Given the description of an element on the screen output the (x, y) to click on. 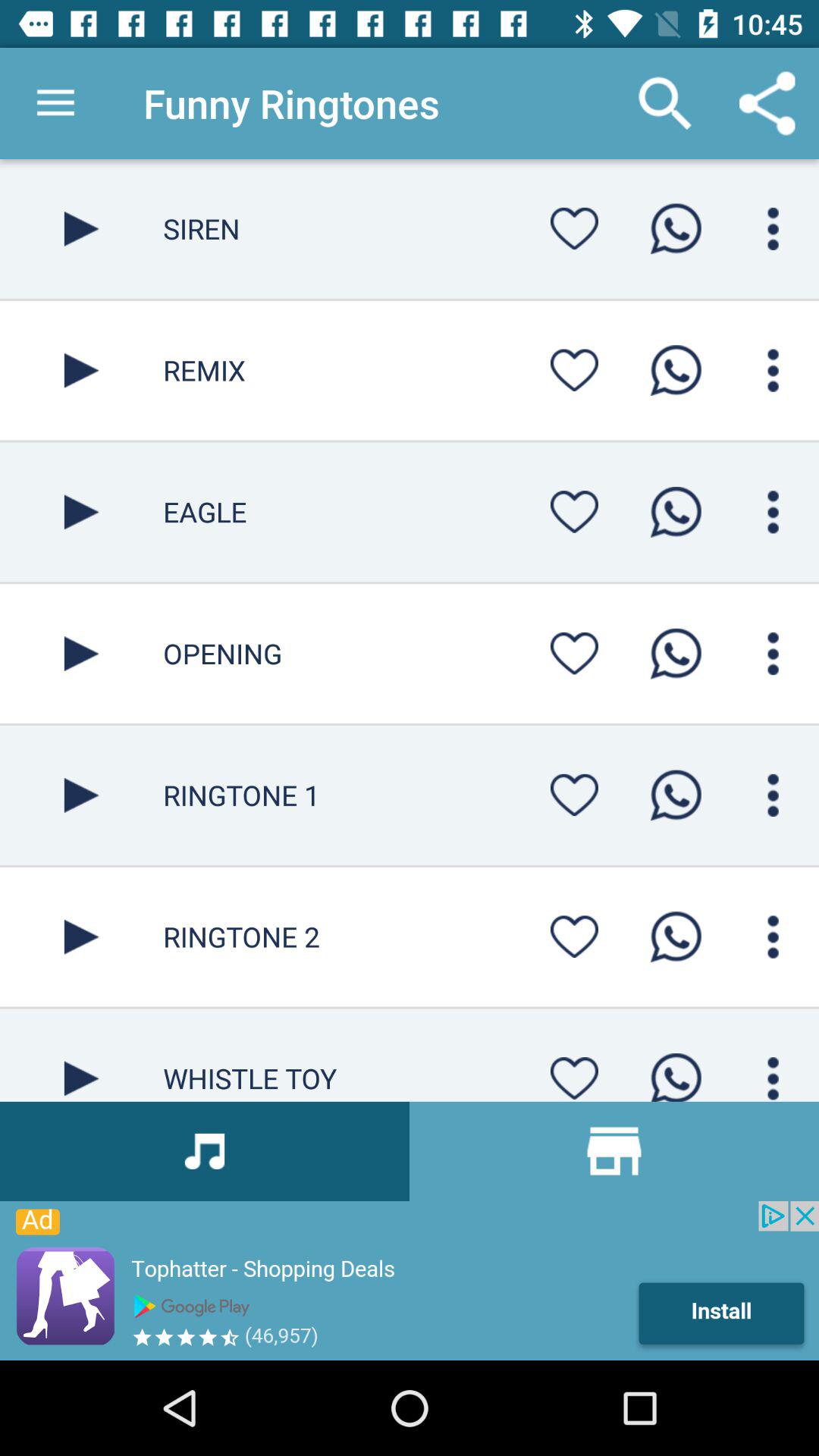
option in image using (574, 794)
